Given the description of an element on the screen output the (x, y) to click on. 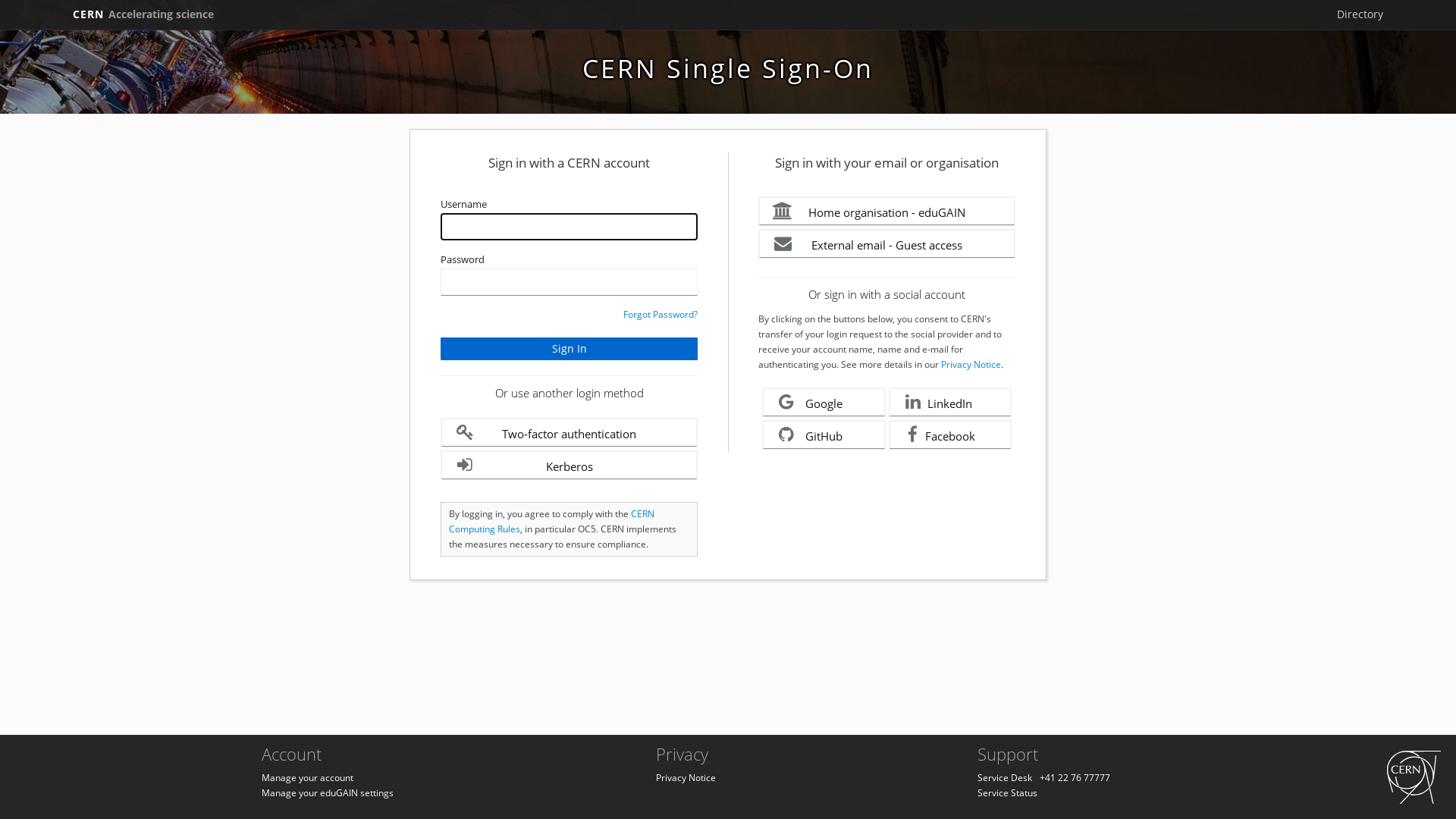
Facebook Element type: text (950, 434)
Service Desk Element type: text (1004, 777)
Service Status Element type: text (1007, 792)
Google Element type: text (823, 402)
CERN Computing Rules Element type: text (551, 521)
CERN Accelerating science Element type: text (142, 14)
Manage your eduGAIN settings Element type: text (327, 792)
+41 22 76 77777 Element type: text (1074, 777)
Sign In Element type: text (568, 348)
Two-factor authentication Element type: text (568, 432)
Manage your account Element type: text (307, 777)
Kerberos Element type: text (568, 465)
External email - Guest access Element type: text (886, 243)
Directory Element type: text (1359, 14)
Privacy Notice Element type: text (971, 363)
Home organisation - eduGAIN Element type: text (886, 210)
LinkedIn Element type: text (950, 402)
Privacy Notice Element type: text (685, 777)
Forgot Password? Element type: text (660, 313)
GitHub Element type: text (823, 434)
